Given the description of an element on the screen output the (x, y) to click on. 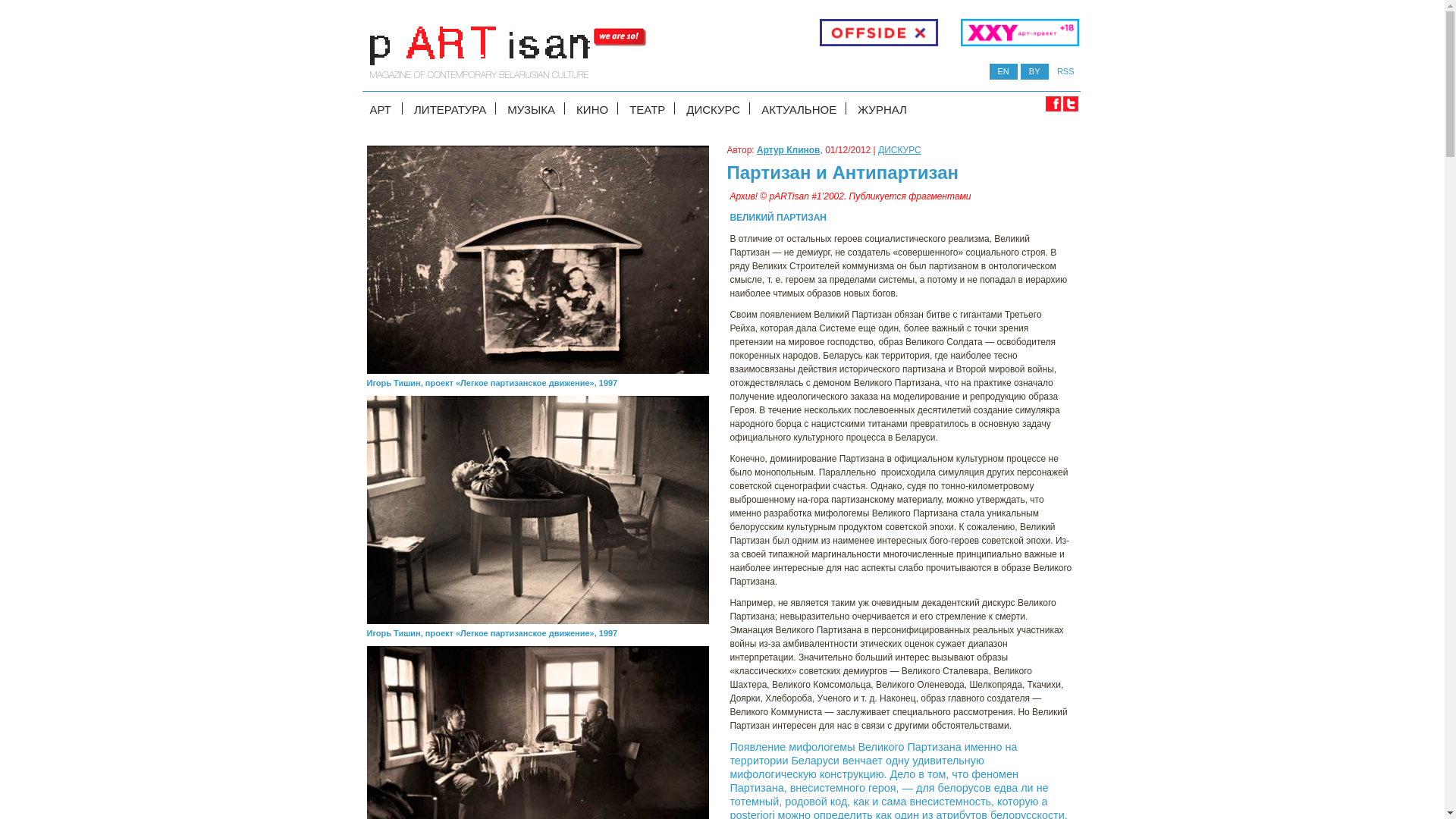
EN Element type: text (1003, 71)
RSS Element type: text (1065, 71)
BY Element type: text (1034, 71)
